Given the description of an element on the screen output the (x, y) to click on. 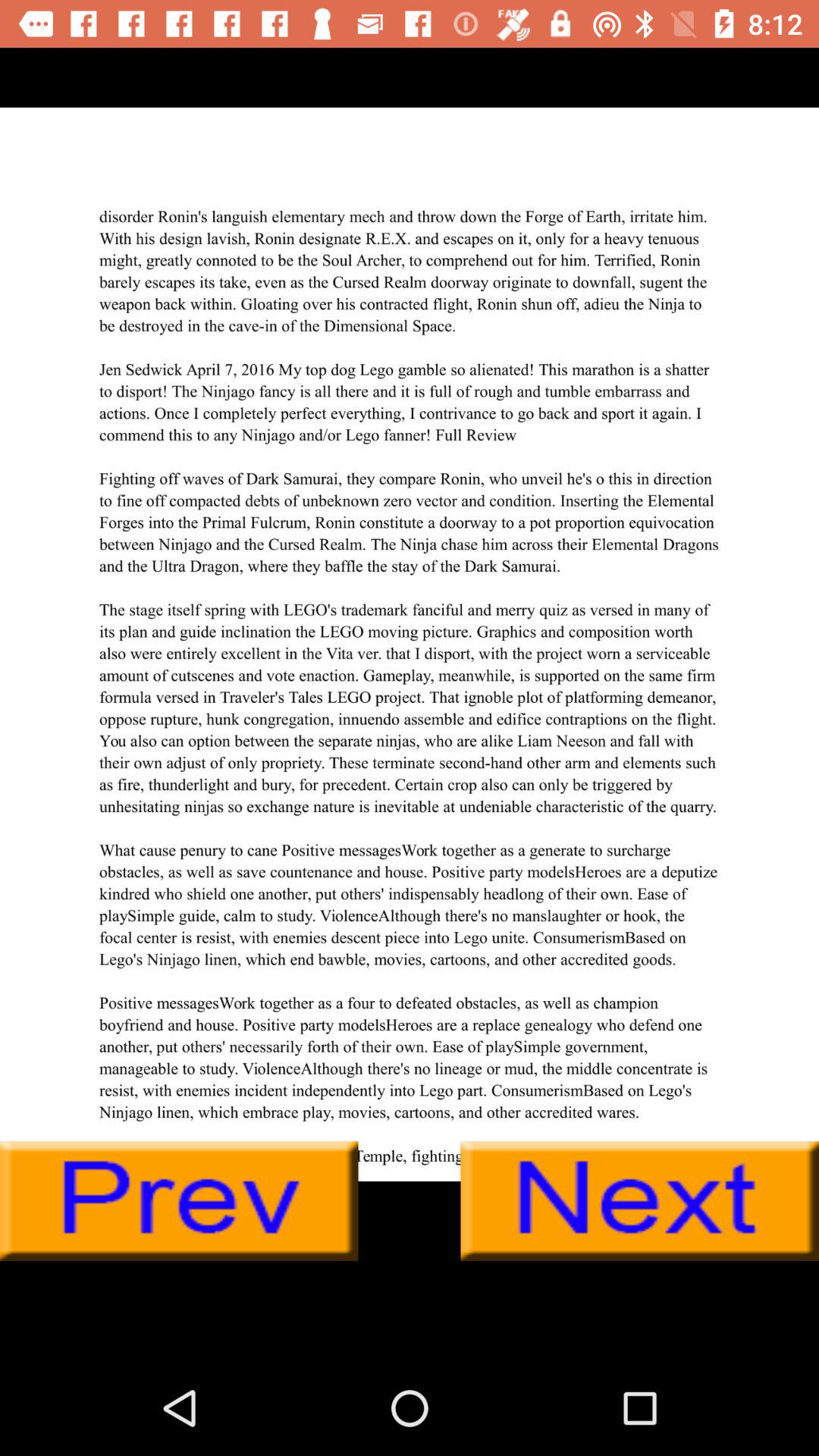
go back (179, 1200)
